Given the description of an element on the screen output the (x, y) to click on. 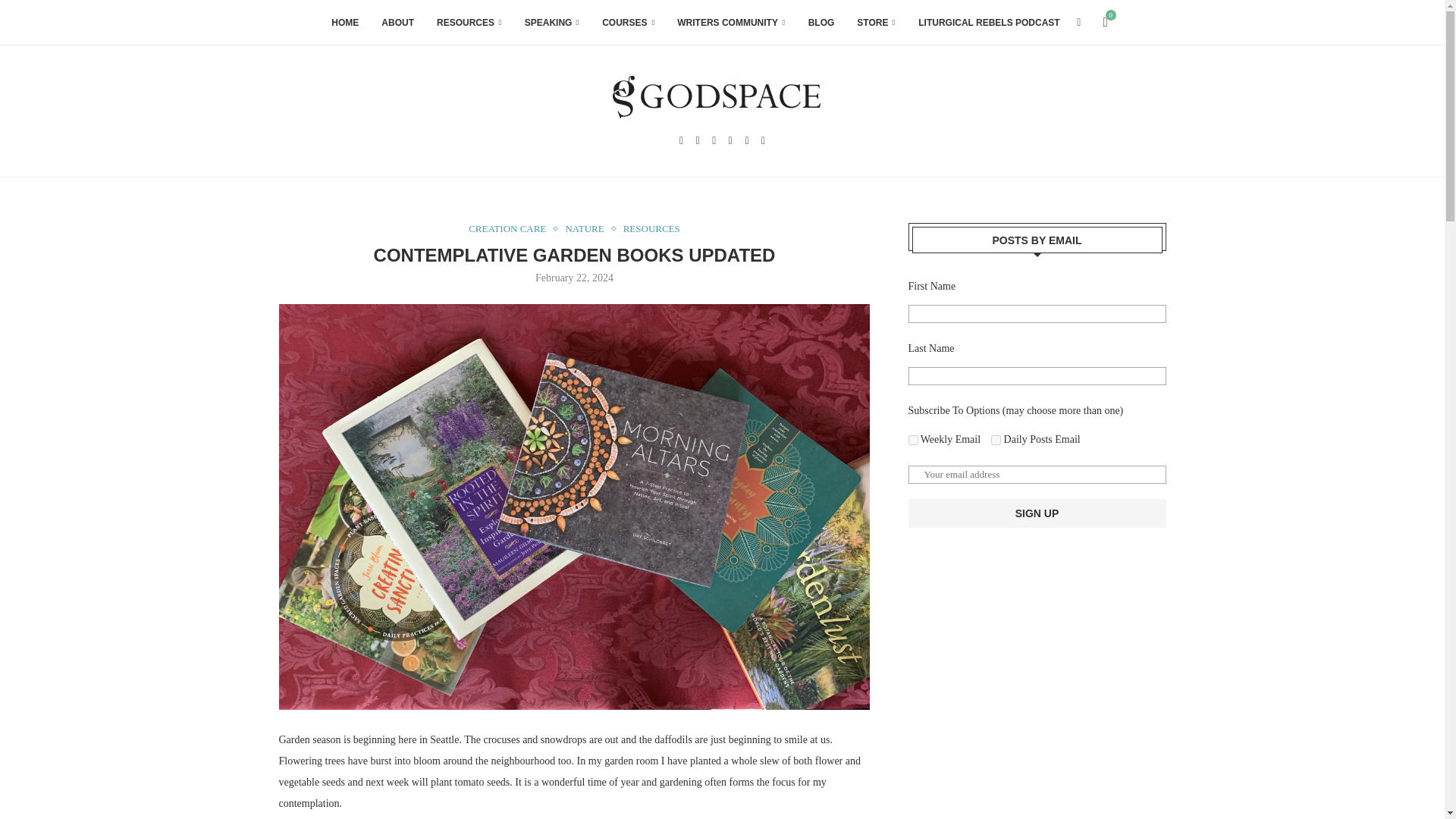
Sign up (1037, 512)
SPEAKING (551, 22)
7316919972 (913, 439)
LITURGICAL REBELS PODCAST (988, 22)
RESOURCES (469, 22)
53090618e5 (996, 439)
WRITERS COMMUNITY (730, 22)
COURSES (627, 22)
